Given the description of an element on the screen output the (x, y) to click on. 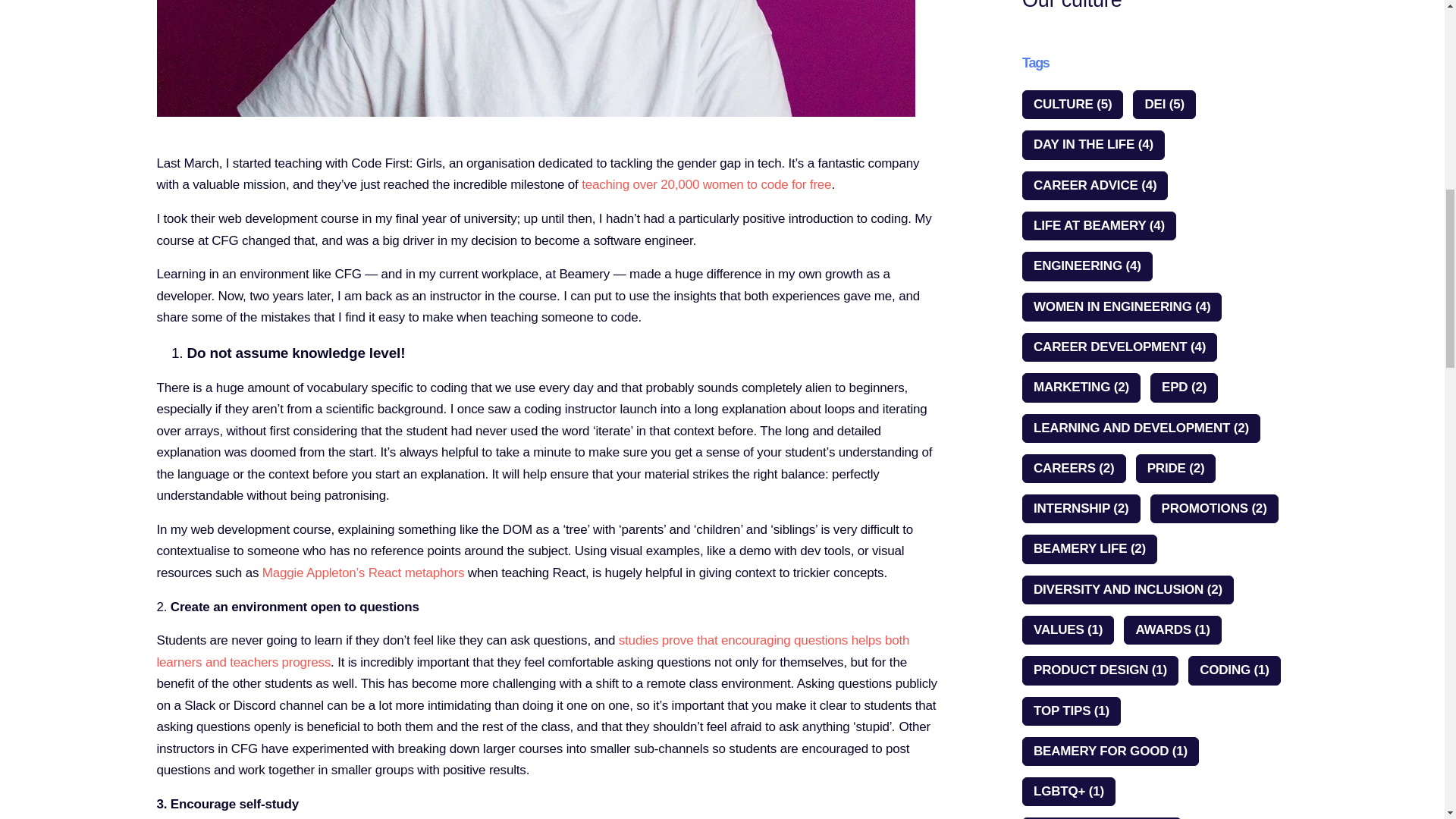
teaching over 20,000 women to code for free (705, 184)
